Given the description of an element on the screen output the (x, y) to click on. 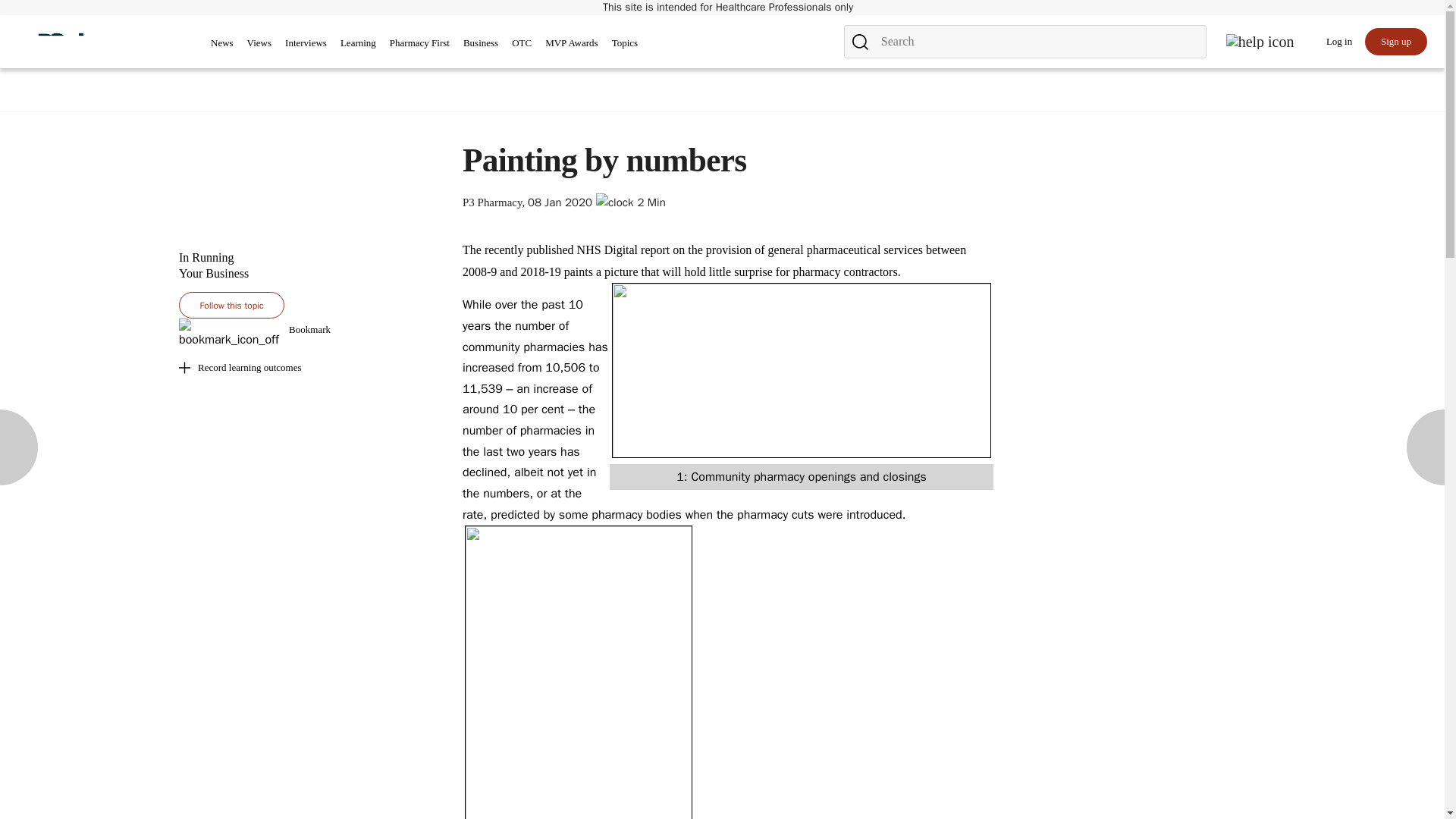
Business (480, 42)
Topics (624, 42)
Learning (357, 42)
Pharmacy First (419, 44)
Interviews (305, 44)
MVP Awards (570, 44)
